Given the description of an element on the screen output the (x, y) to click on. 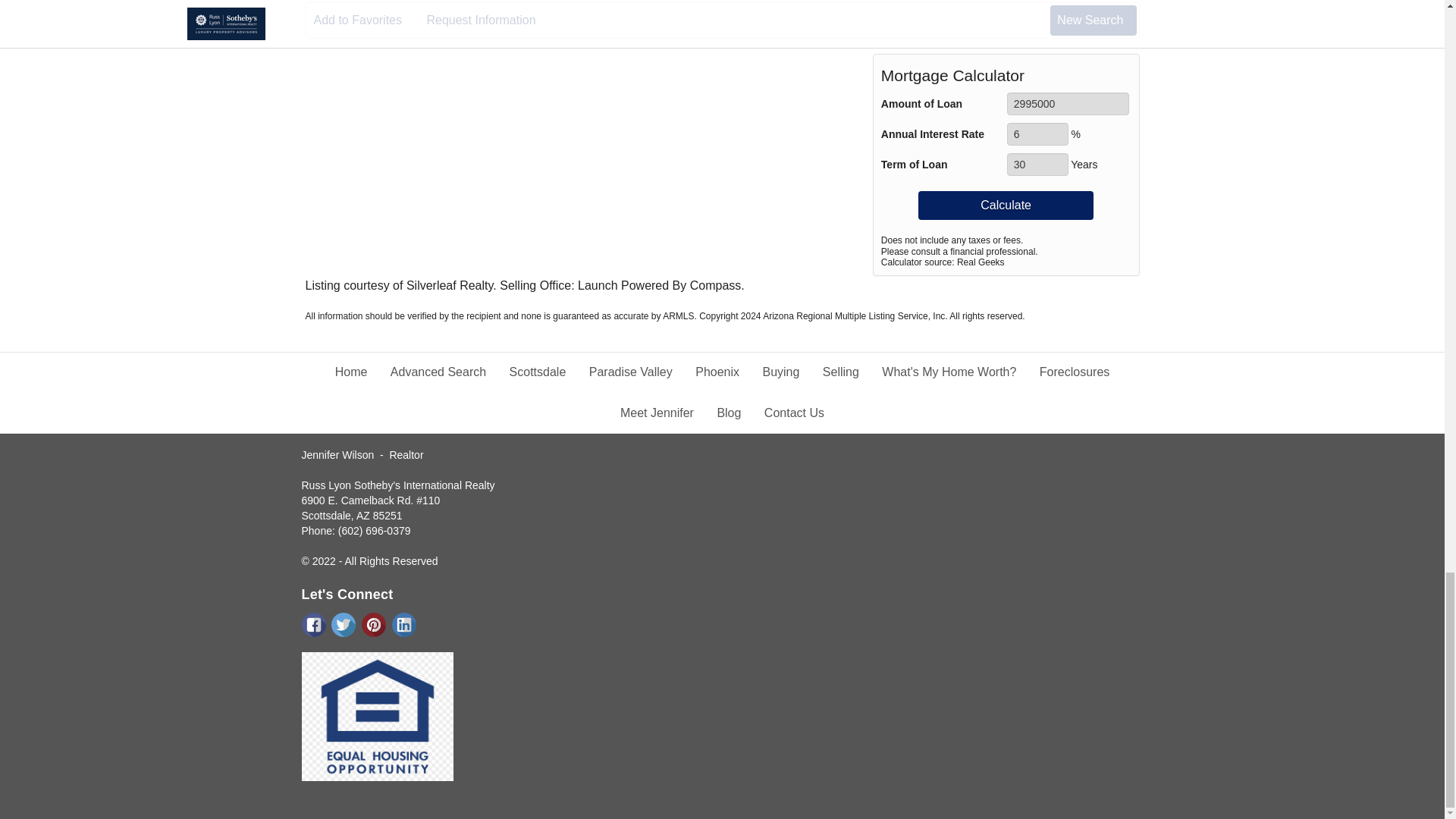
2995000 (1068, 103)
30 (1037, 164)
6 (1037, 133)
